Given the description of an element on the screen output the (x, y) to click on. 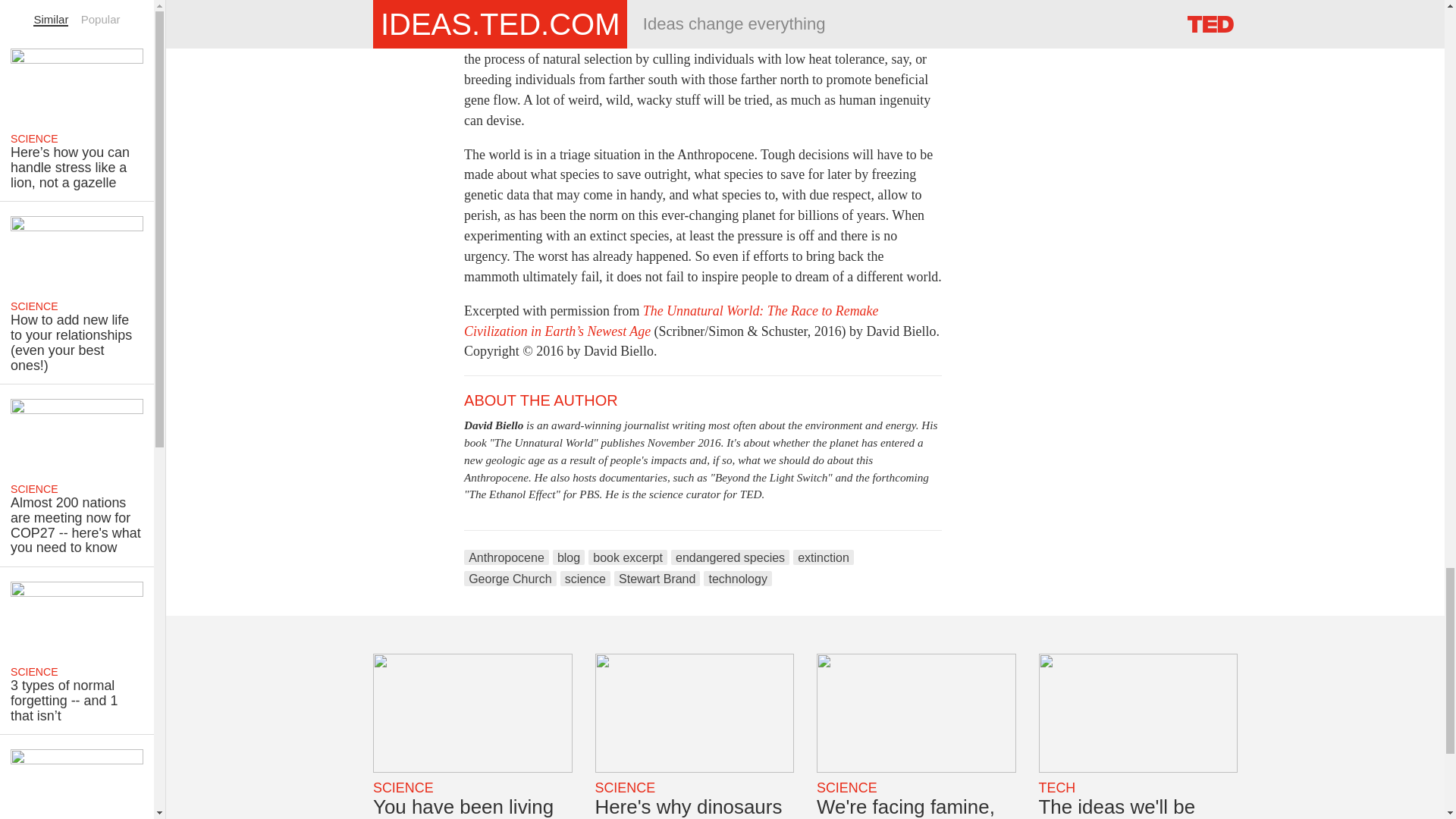
endangered species (730, 557)
blog (569, 557)
science (585, 578)
George Church (510, 578)
David Biello (493, 424)
extinction (823, 557)
Stewart Brand (657, 578)
technology (737, 578)
book excerpt (627, 557)
Anthropocene (506, 557)
